Given the description of an element on the screen output the (x, y) to click on. 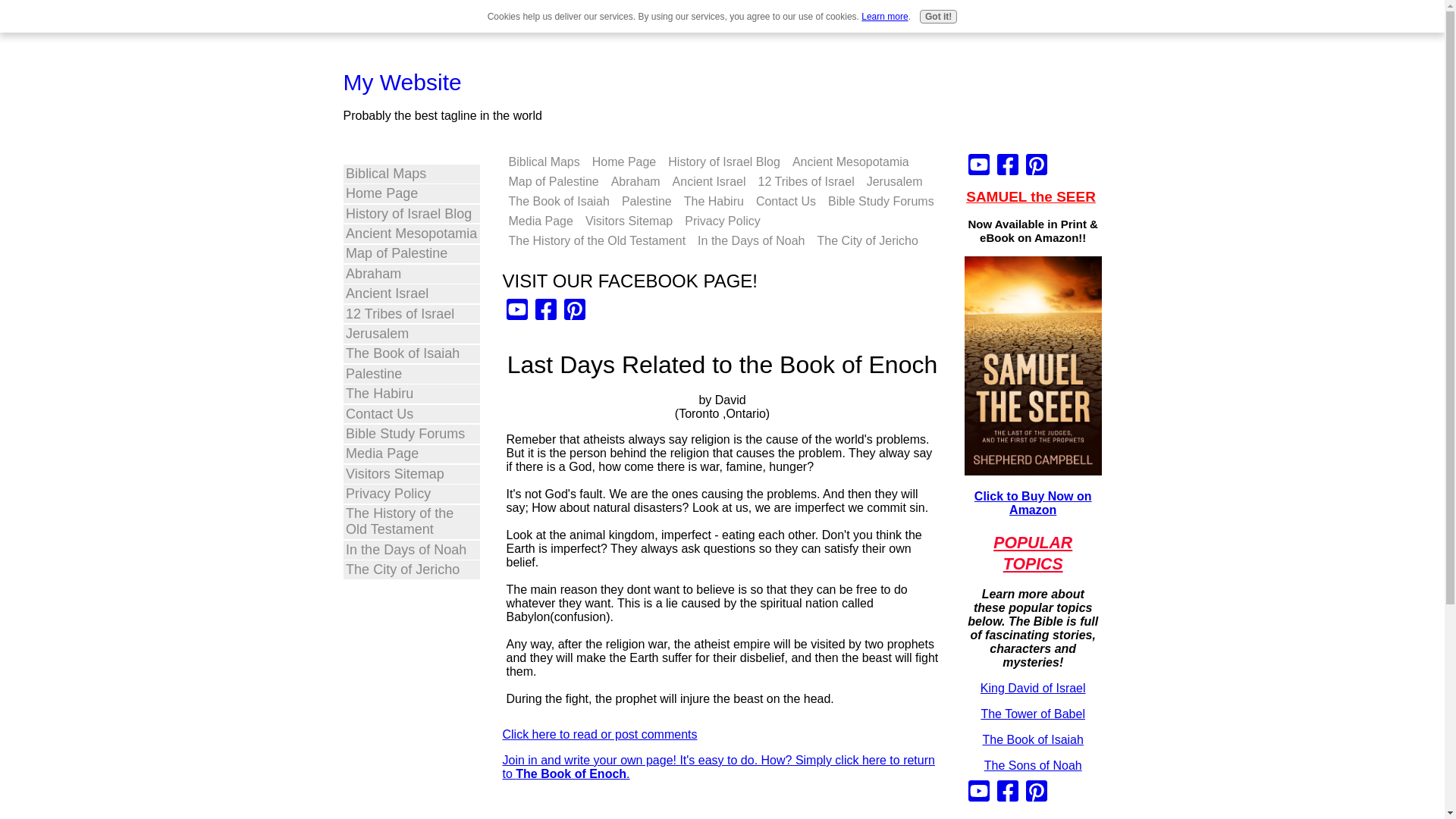
Ancient Mesopotamia (850, 161)
Click here to read or post comments (599, 734)
The History of the Old Testament (596, 240)
Privacy Policy (722, 220)
Palestine (411, 374)
Ancient Israel (709, 181)
Bible Study Forums (411, 434)
Visitors Sitemap (628, 220)
The City of Jericho (867, 240)
12 Tribes of Israel (411, 313)
Biblical Maps (543, 161)
Home Page (411, 193)
My Website (401, 82)
Jerusalem (411, 333)
